Given the description of an element on the screen output the (x, y) to click on. 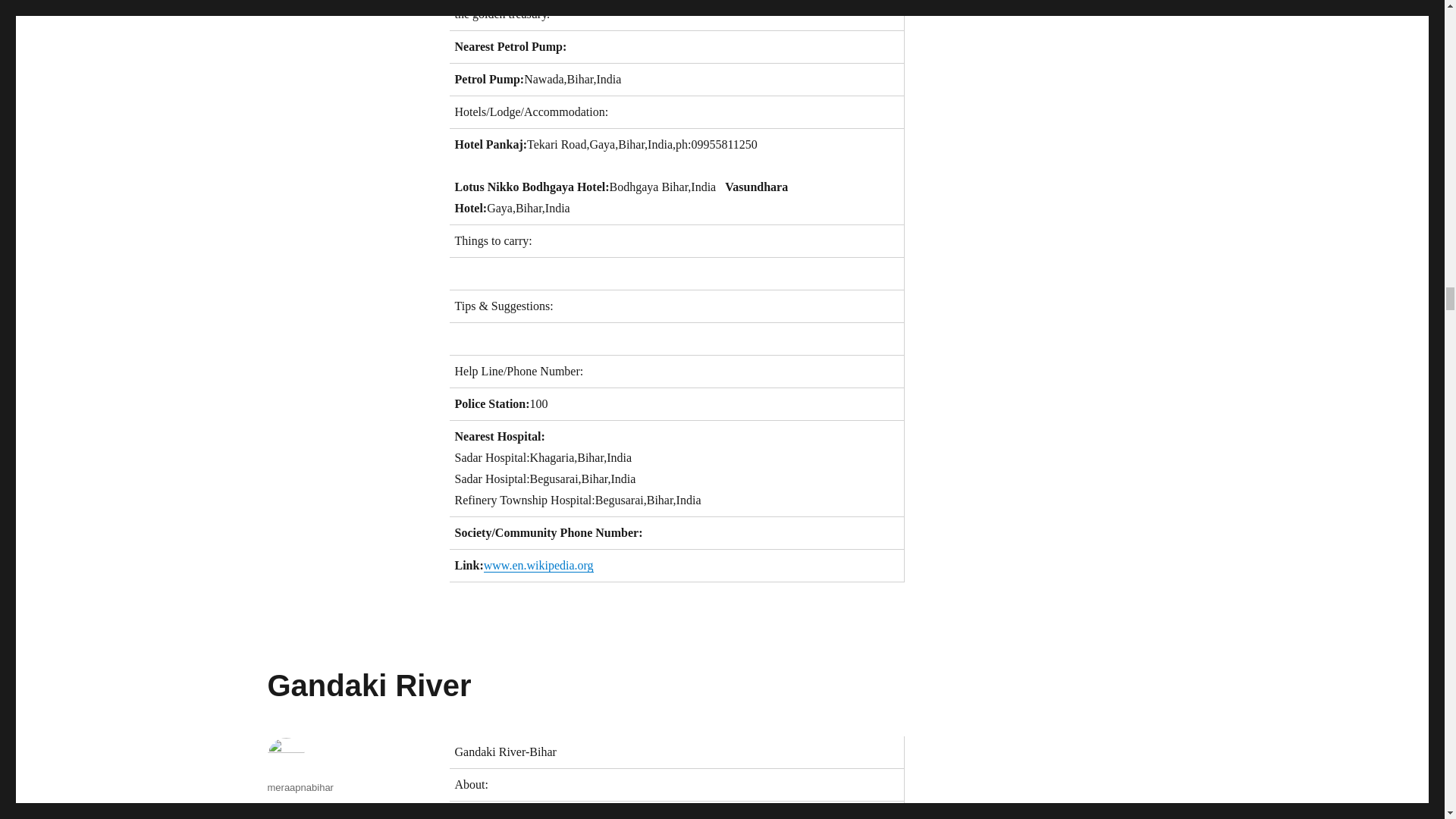
Gandaki River (368, 685)
meraapnabihar (299, 787)
www.en.wikipedia.org (538, 564)
January 19, 2019 (304, 808)
